Given the description of an element on the screen output the (x, y) to click on. 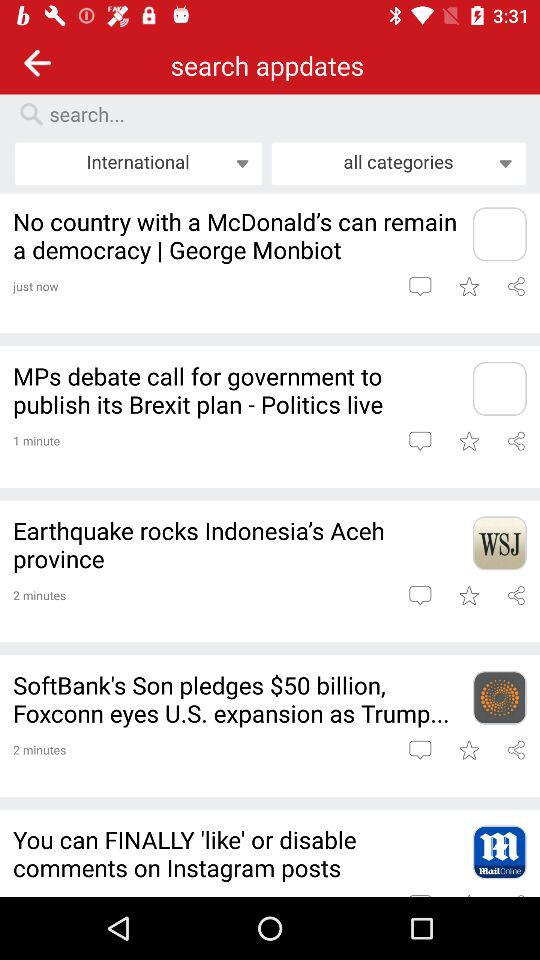
press icon next to the international icon (398, 163)
